Given the description of an element on the screen output the (x, y) to click on. 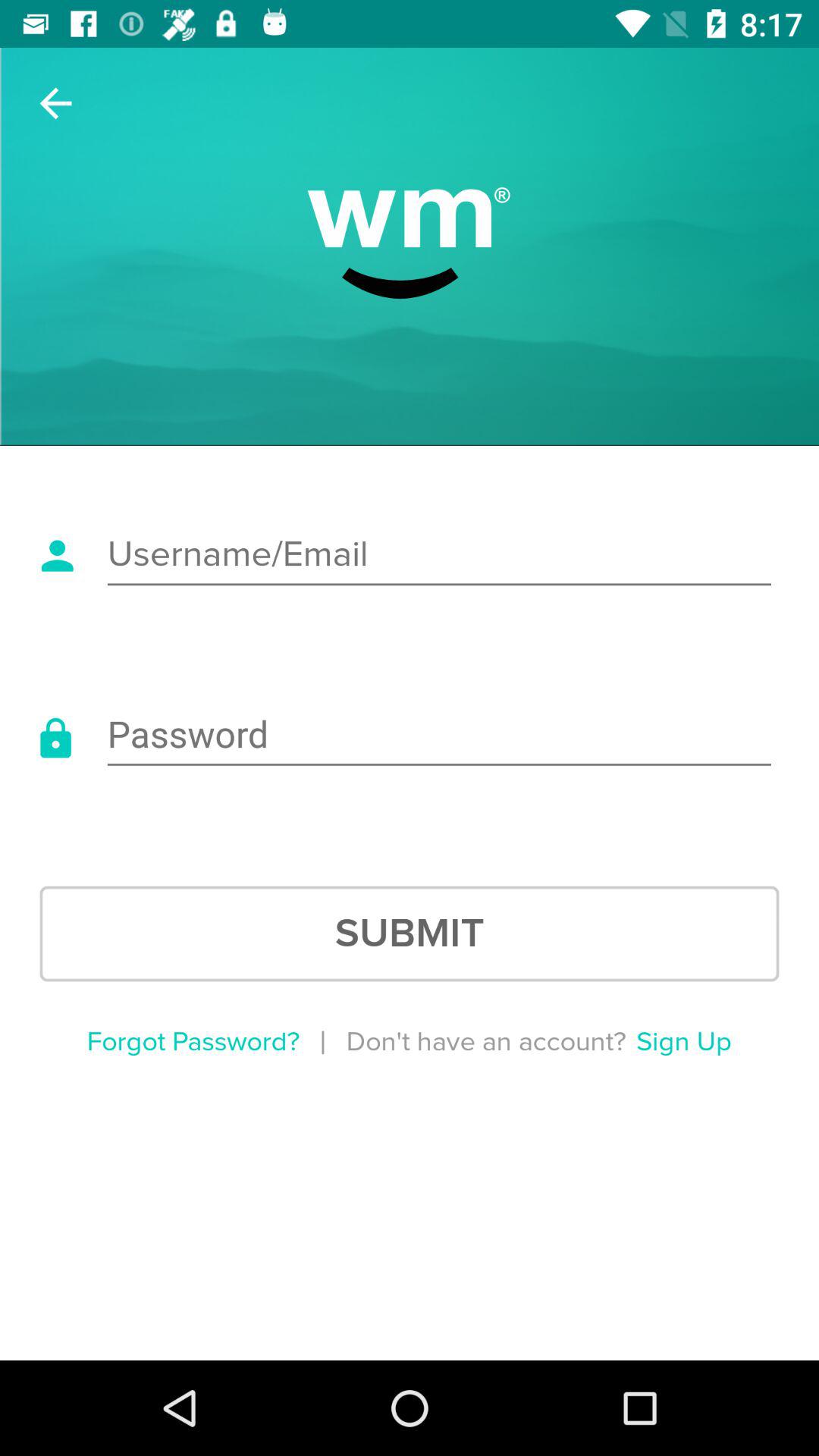
tap sign up icon (683, 1042)
